Given the description of an element on the screen output the (x, y) to click on. 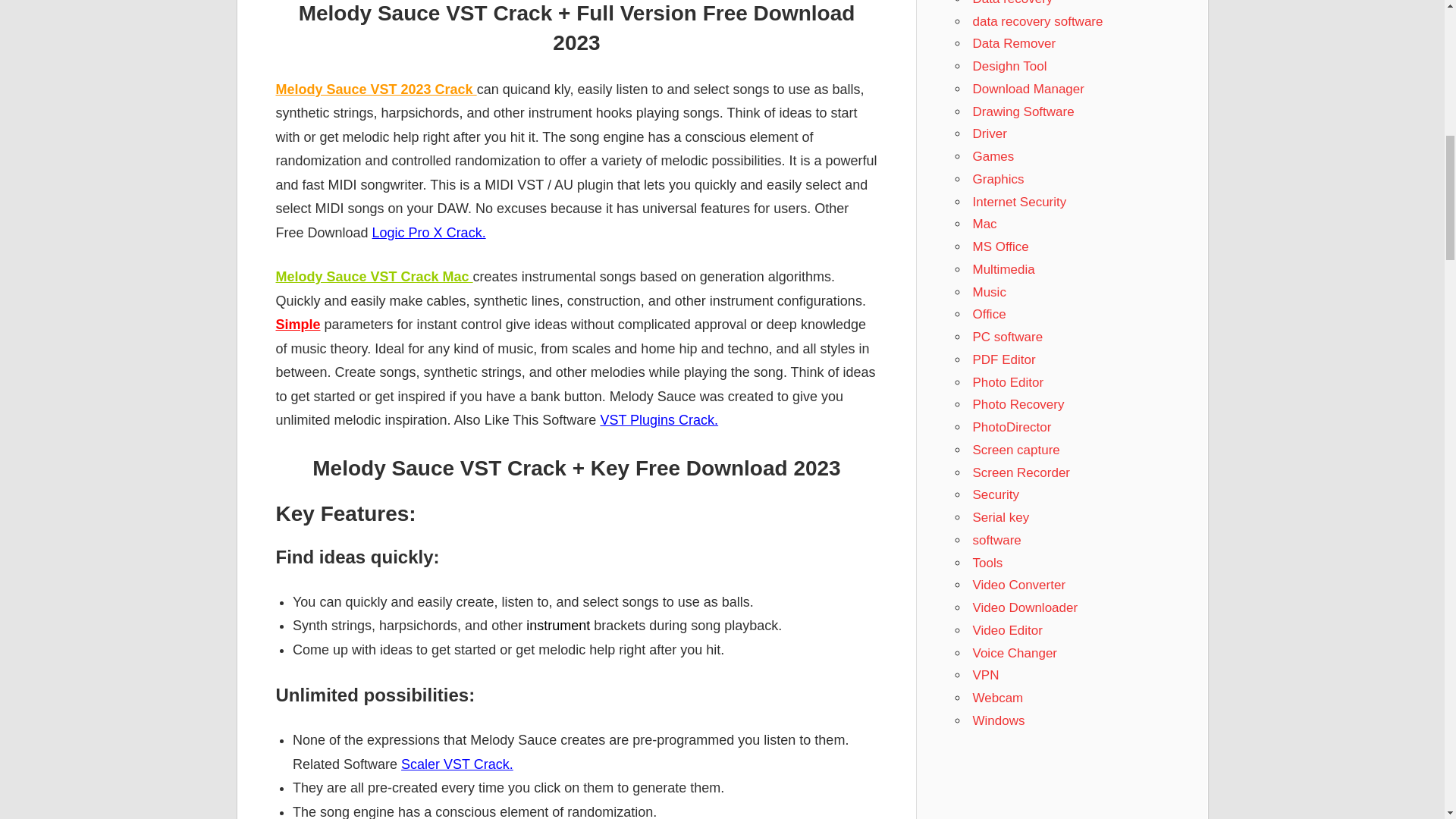
Scaler VST Crack. (457, 764)
Logic Pro X Crack. (429, 232)
Melody Sauce VST 2023 Crack (376, 89)
VST Plugins Crack. (658, 419)
Simple (298, 324)
Melody Sauce VST Crack Mac (374, 276)
